Given the description of an element on the screen output the (x, y) to click on. 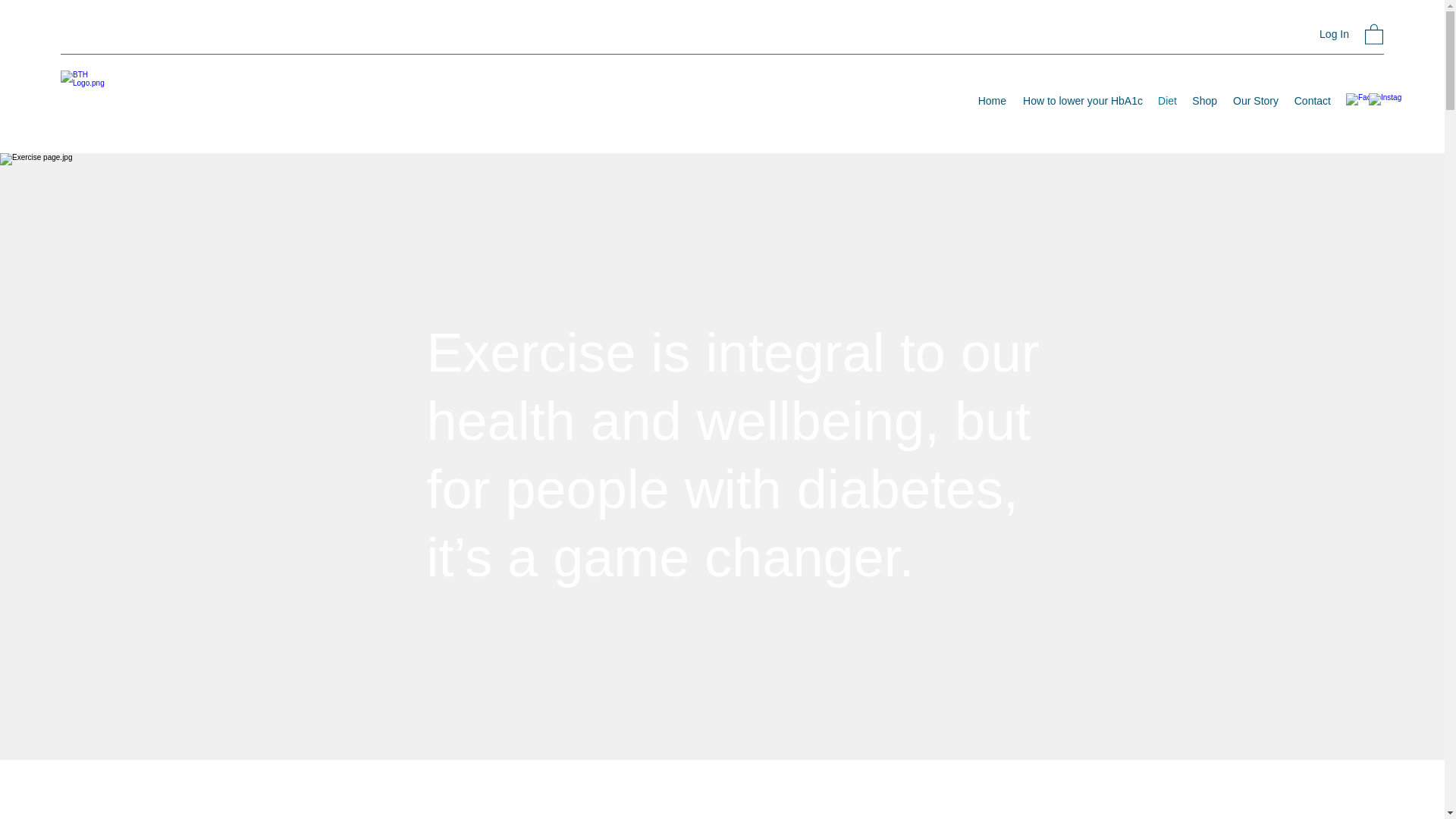
Shop (1204, 100)
Diet (1167, 100)
Our Story (1254, 100)
How to lower your HbA1c (1081, 100)
Home (991, 100)
Log In (1333, 34)
Contact (1311, 100)
